Given the description of an element on the screen output the (x, y) to click on. 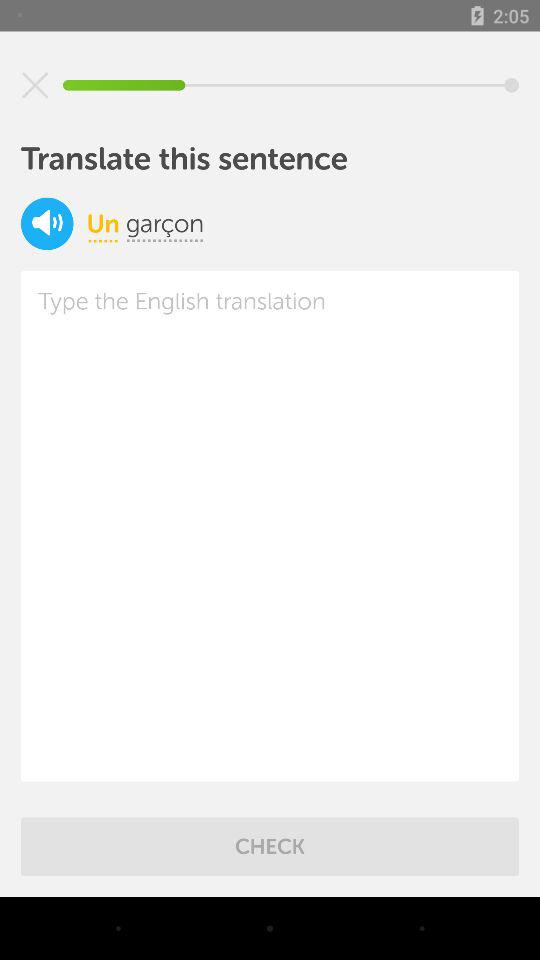
pronounce the phrase (47, 223)
